Given the description of an element on the screen output the (x, y) to click on. 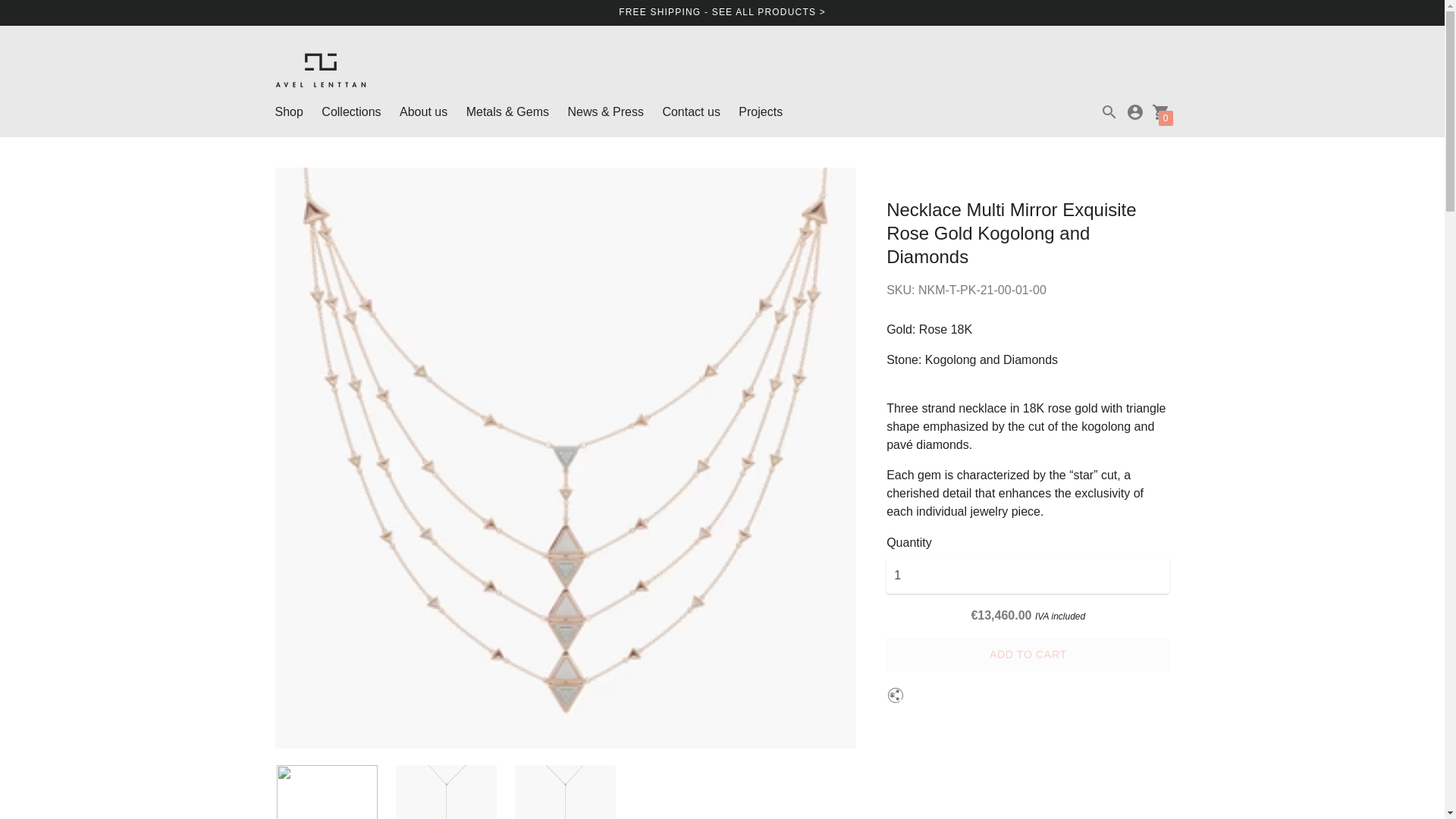
Shop (288, 111)
Projects (760, 111)
Contact us (690, 111)
About us (422, 111)
1 (1027, 575)
Collections (350, 111)
